Given the description of an element on the screen output the (x, y) to click on. 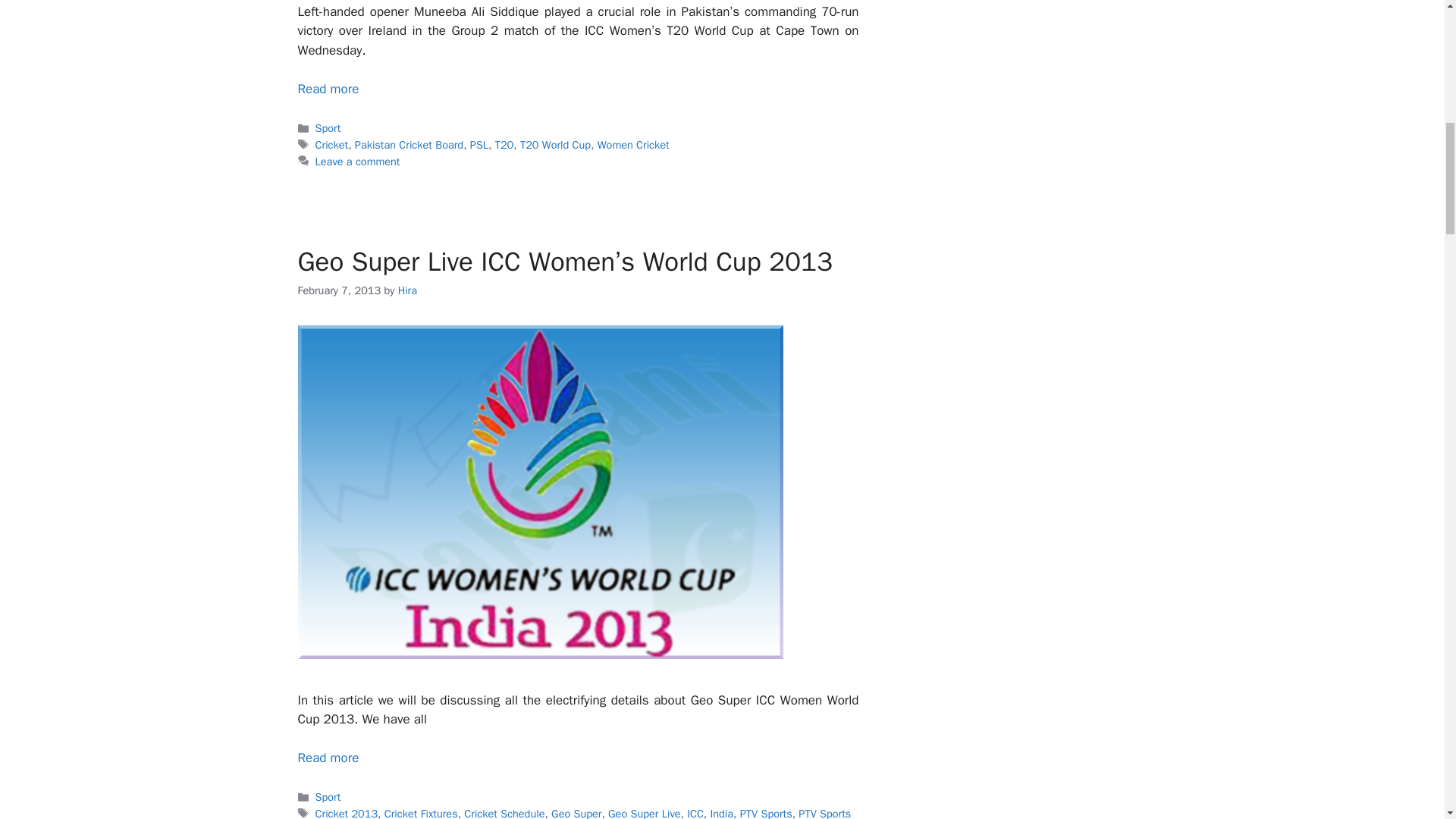
Women Cricket (632, 144)
Cricket (332, 144)
Hira (406, 290)
T20 World Cup (555, 144)
T20 (504, 144)
Sport (327, 128)
PSL (478, 144)
Leave a comment (357, 161)
Pakistan Cricket Board (409, 144)
